Given the description of an element on the screen output the (x, y) to click on. 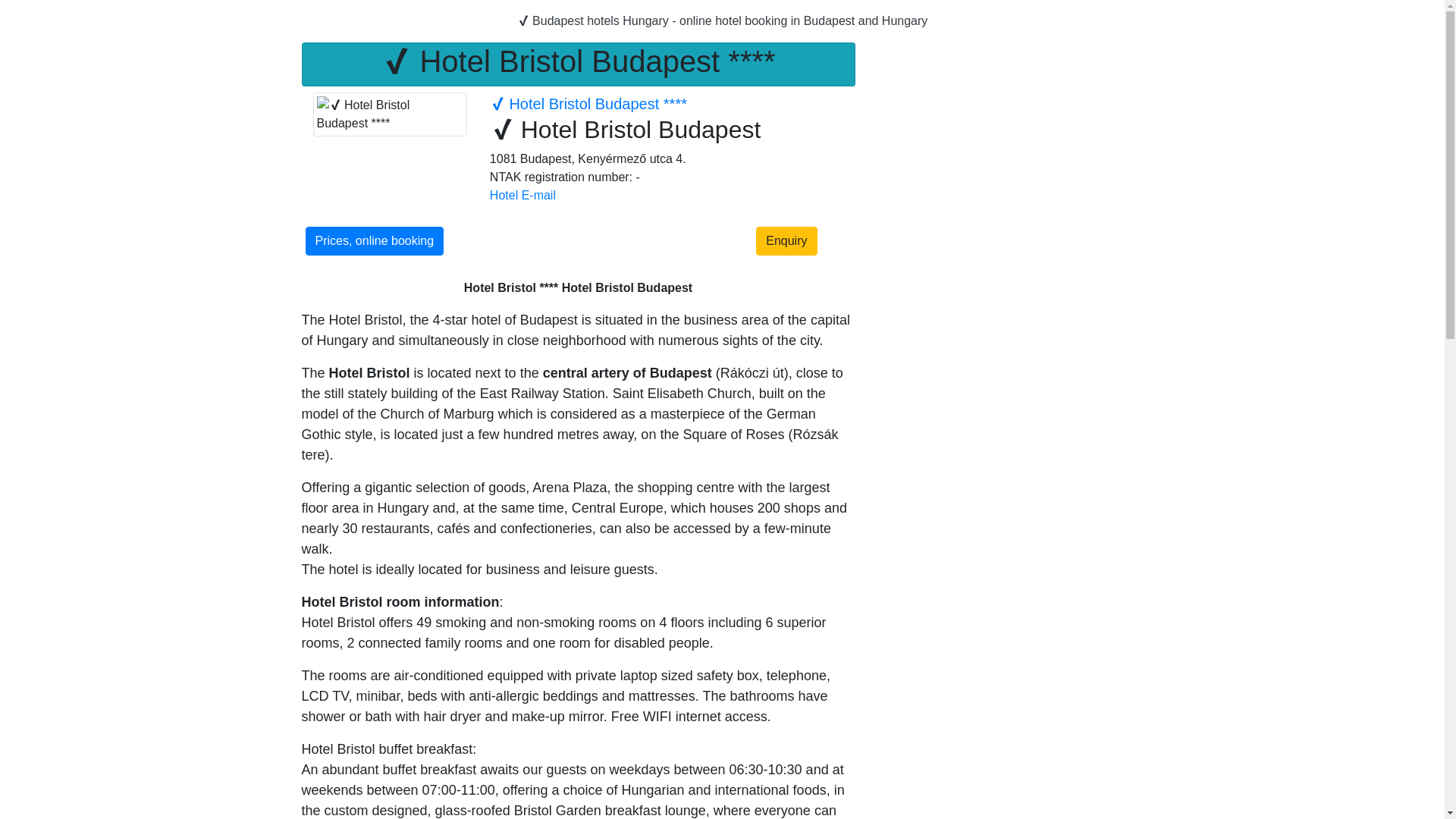
Enquiry (785, 240)
Hotel E-mail (522, 195)
Hotel E-mail (522, 195)
Prices, online booking (374, 240)
